Given the description of an element on the screen output the (x, y) to click on. 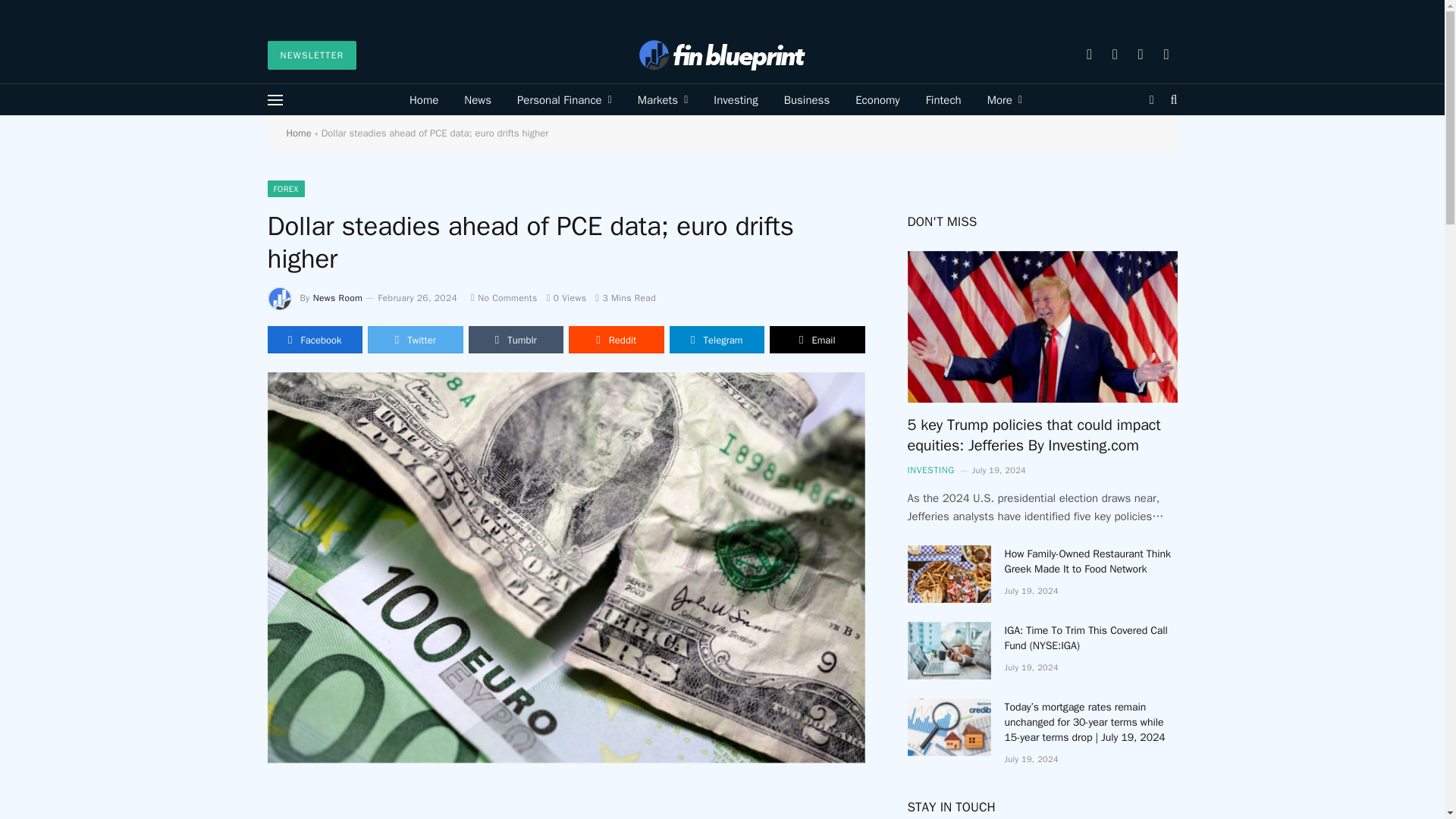
Switch to Dark Design - easier on eyes. (1151, 100)
Posts by News Room (337, 297)
Fin Blueprint (722, 54)
NEWSLETTER (311, 54)
